Given the description of an element on the screen output the (x, y) to click on. 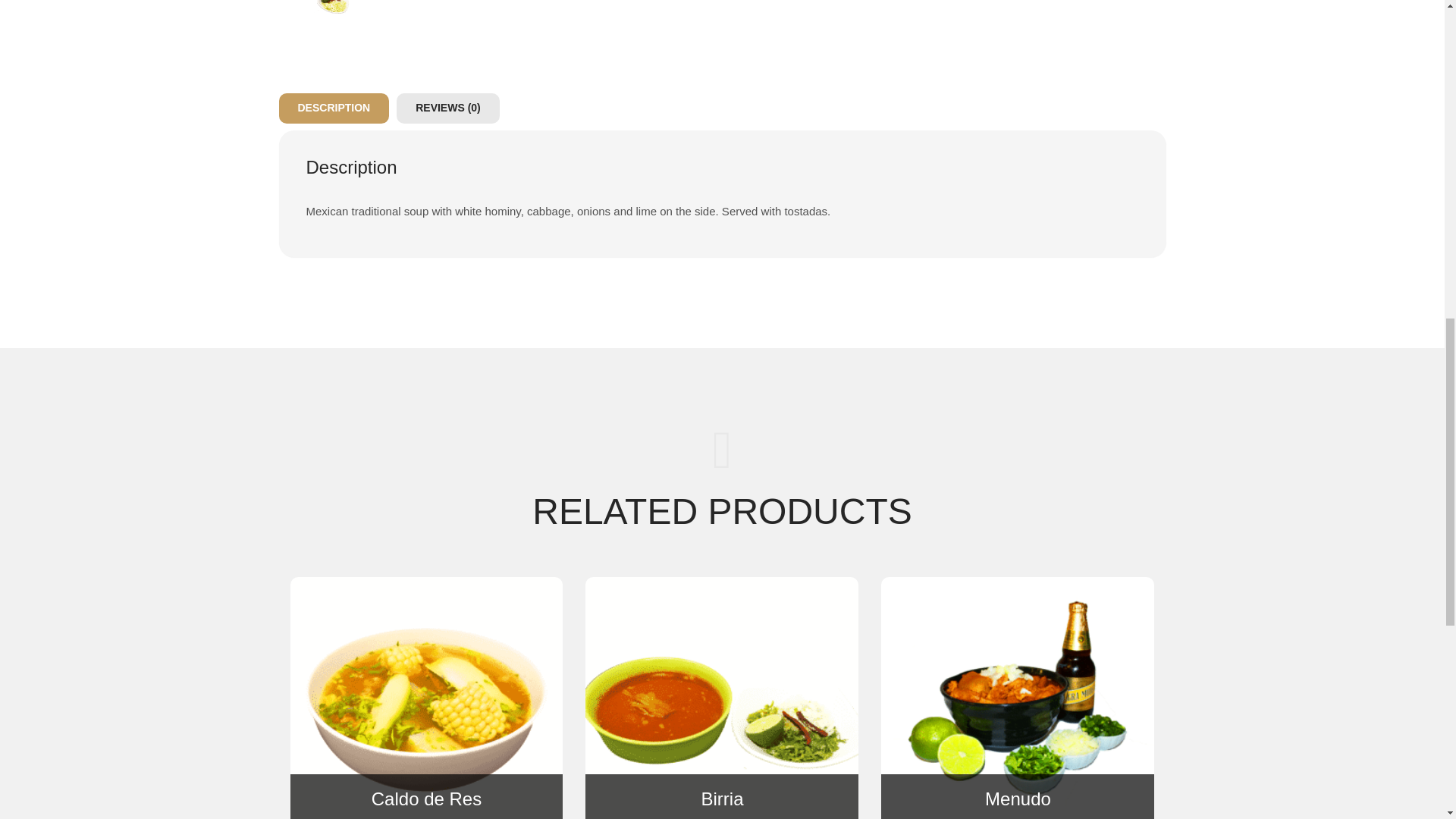
Menudo (1017, 799)
DESCRIPTION (334, 108)
Caldo de Res (425, 799)
Birria (722, 799)
pozole (342, 6)
